Given the description of an element on the screen output the (x, y) to click on. 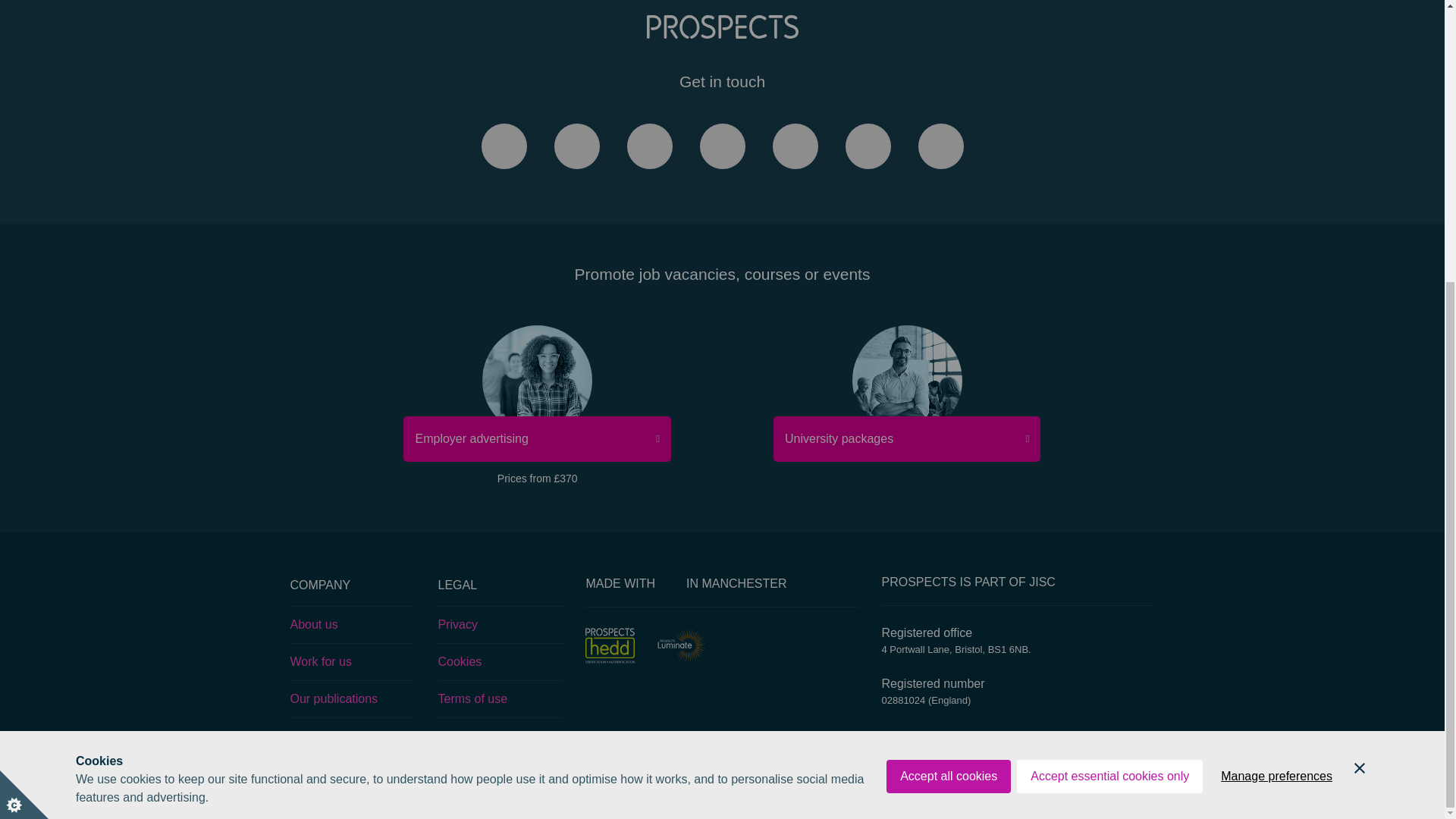
Accept essential cookies only (1109, 354)
Manage preferences (1275, 354)
Accept all cookies (948, 354)
